Given the description of an element on the screen output the (x, y) to click on. 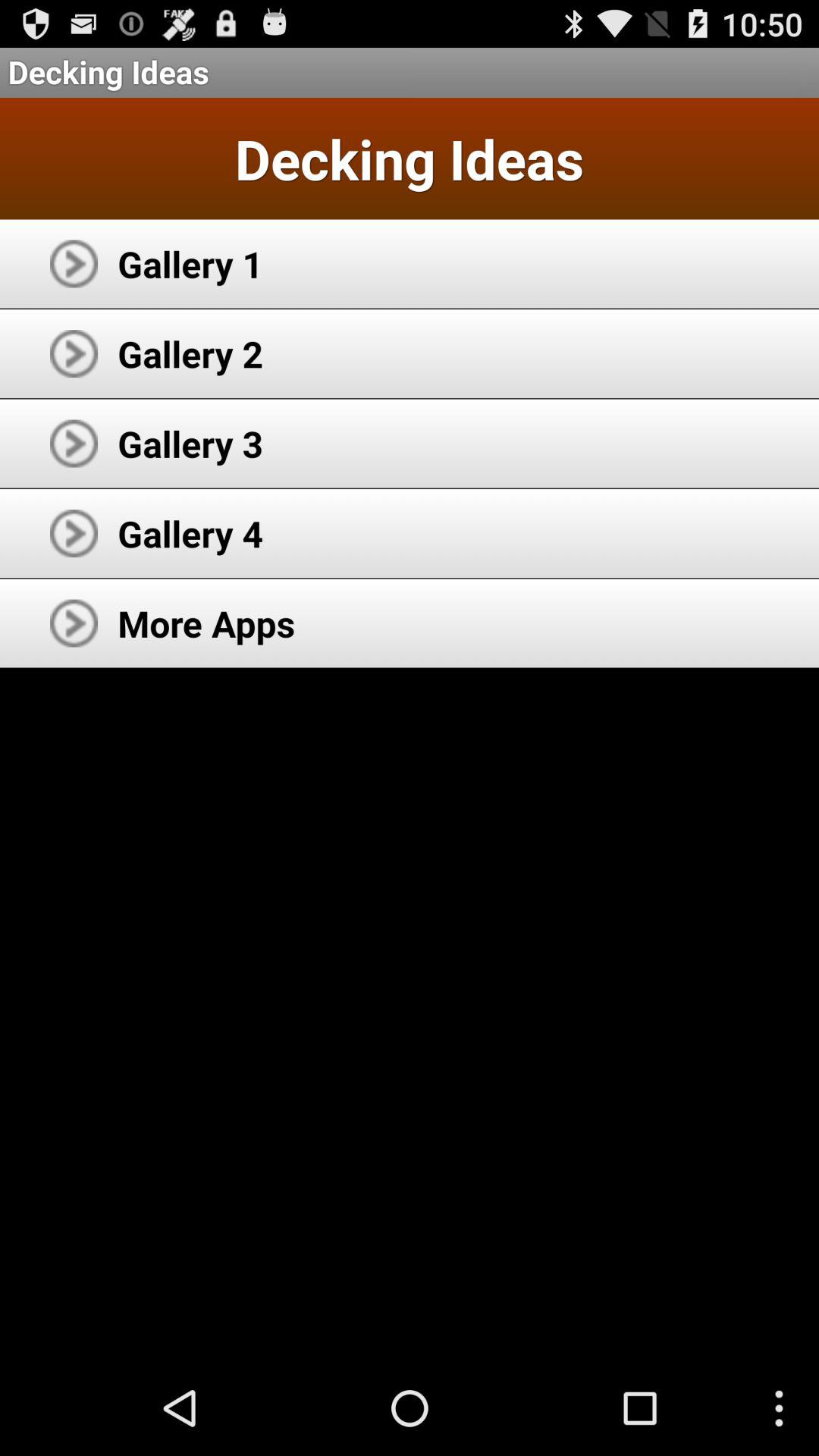
scroll until gallery 1 (190, 263)
